Given the description of an element on the screen output the (x, y) to click on. 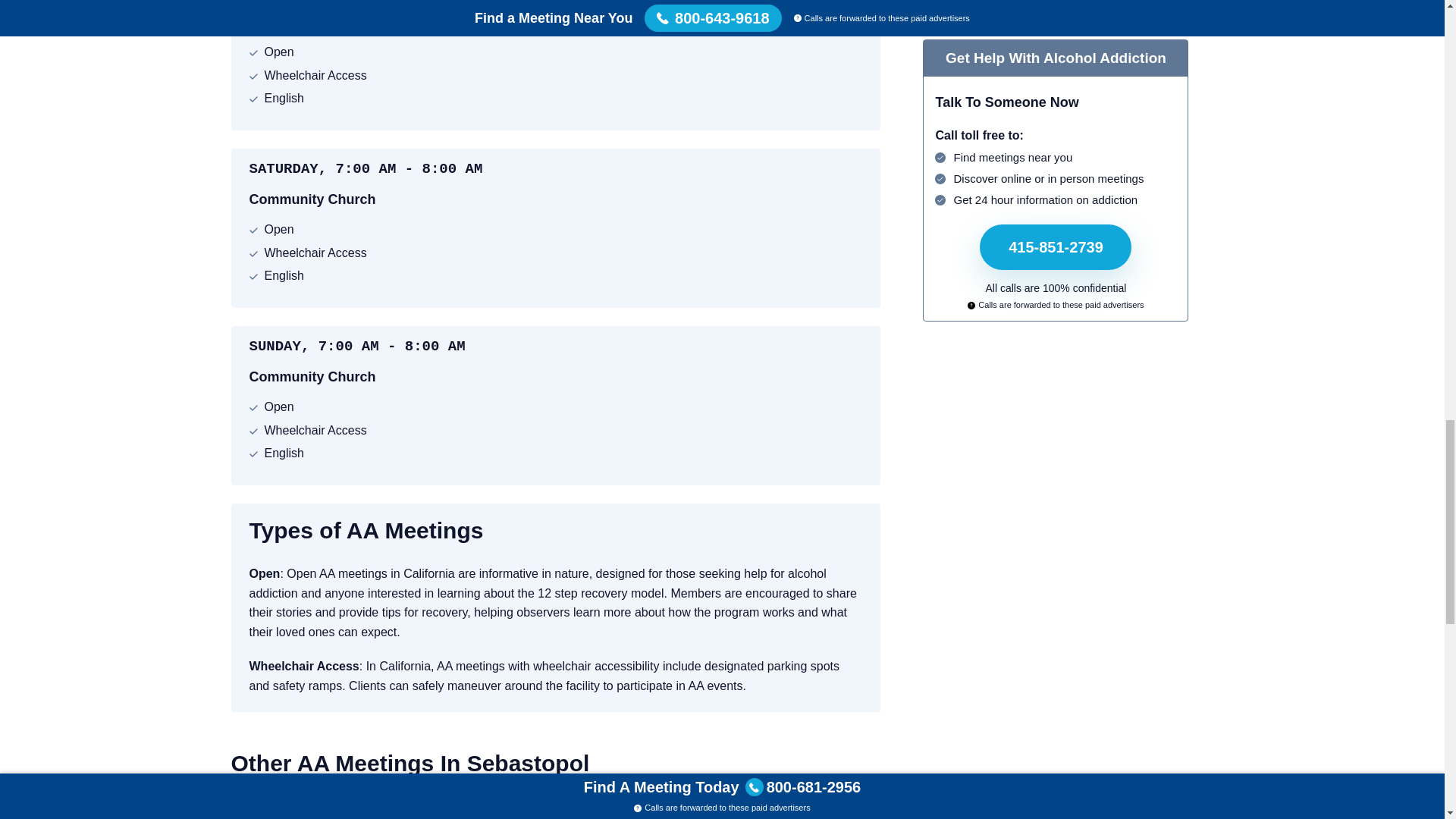
AA meetings in Sebastopol, CA (371, 806)
AA meetings in Sebastopol, CA (371, 806)
